Given the description of an element on the screen output the (x, y) to click on. 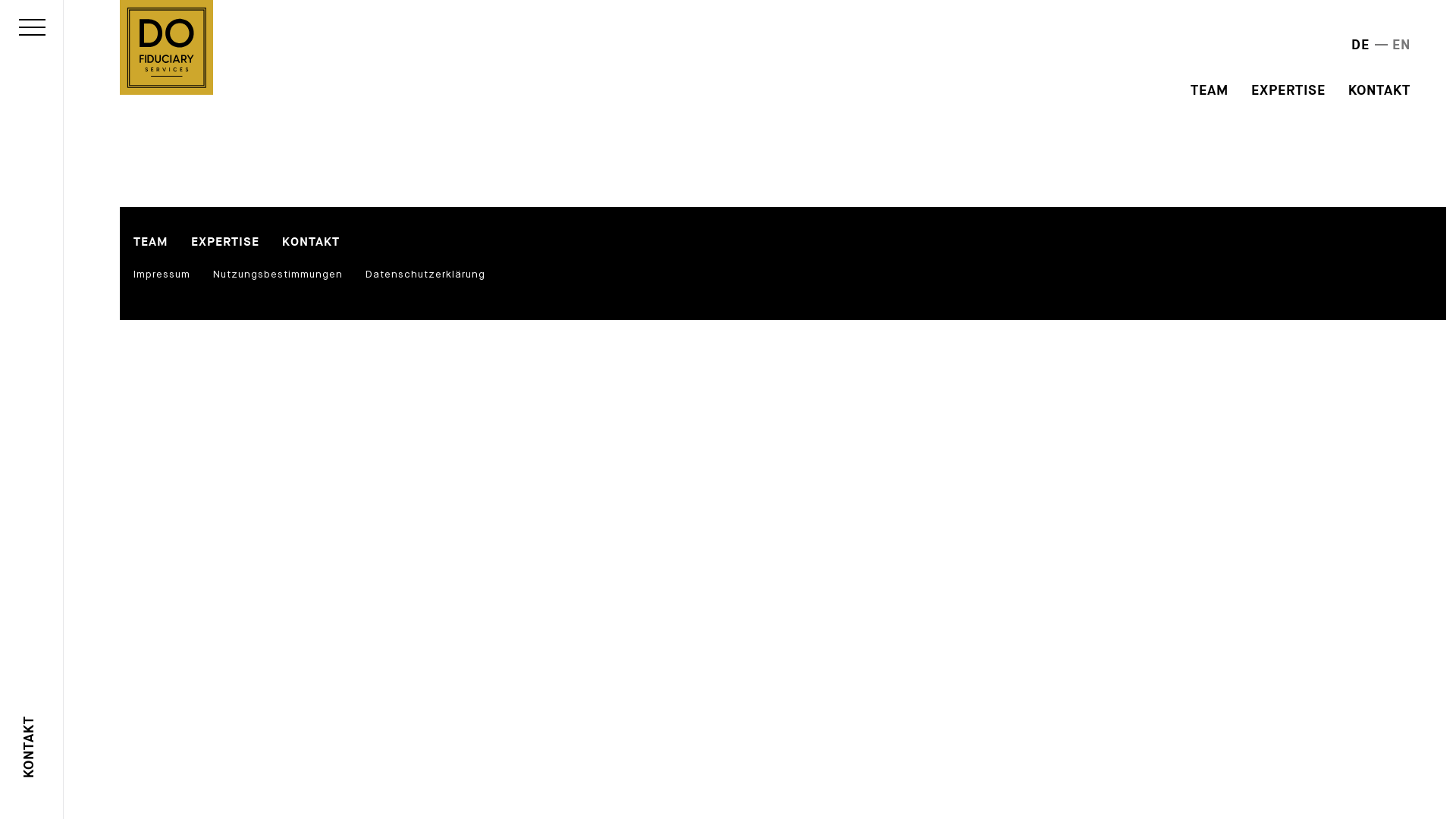
KONTAKT Element type: text (49, 726)
Nutzungsbestimmungen Element type: text (277, 273)
Logo Element type: hover (166, 47)
TEAM Element type: text (1209, 90)
TEAM Element type: text (150, 242)
DE Element type: text (1360, 45)
KONTAKT Element type: text (310, 242)
EN Element type: text (1401, 45)
Impressum Element type: text (161, 273)
KONTAKT Element type: text (1379, 90)
EXPERTISE Element type: text (1288, 90)
EXPERTISE Element type: text (225, 242)
